Given the description of an element on the screen output the (x, y) to click on. 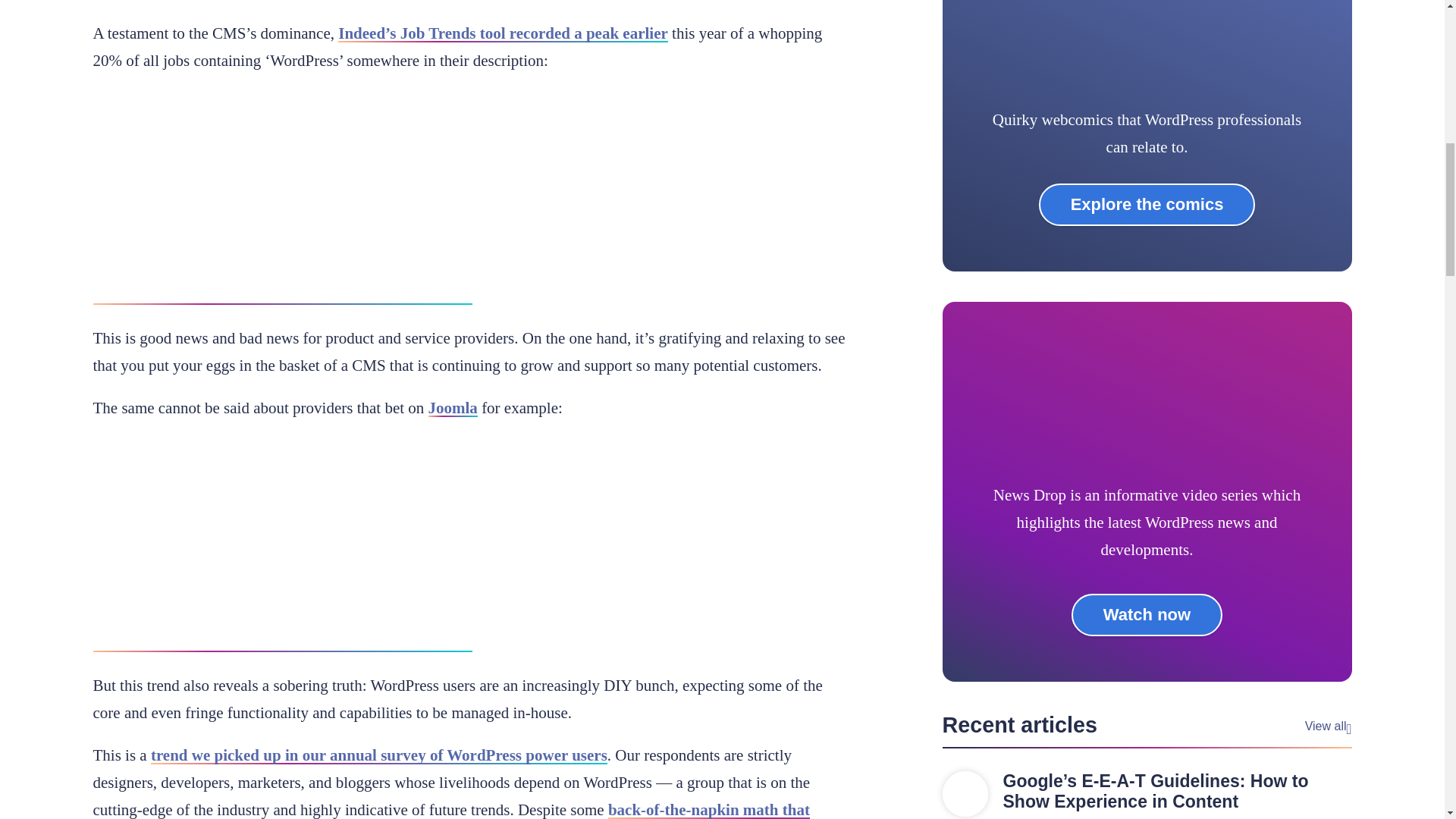
Joomla (452, 407)
